Given the description of an element on the screen output the (x, y) to click on. 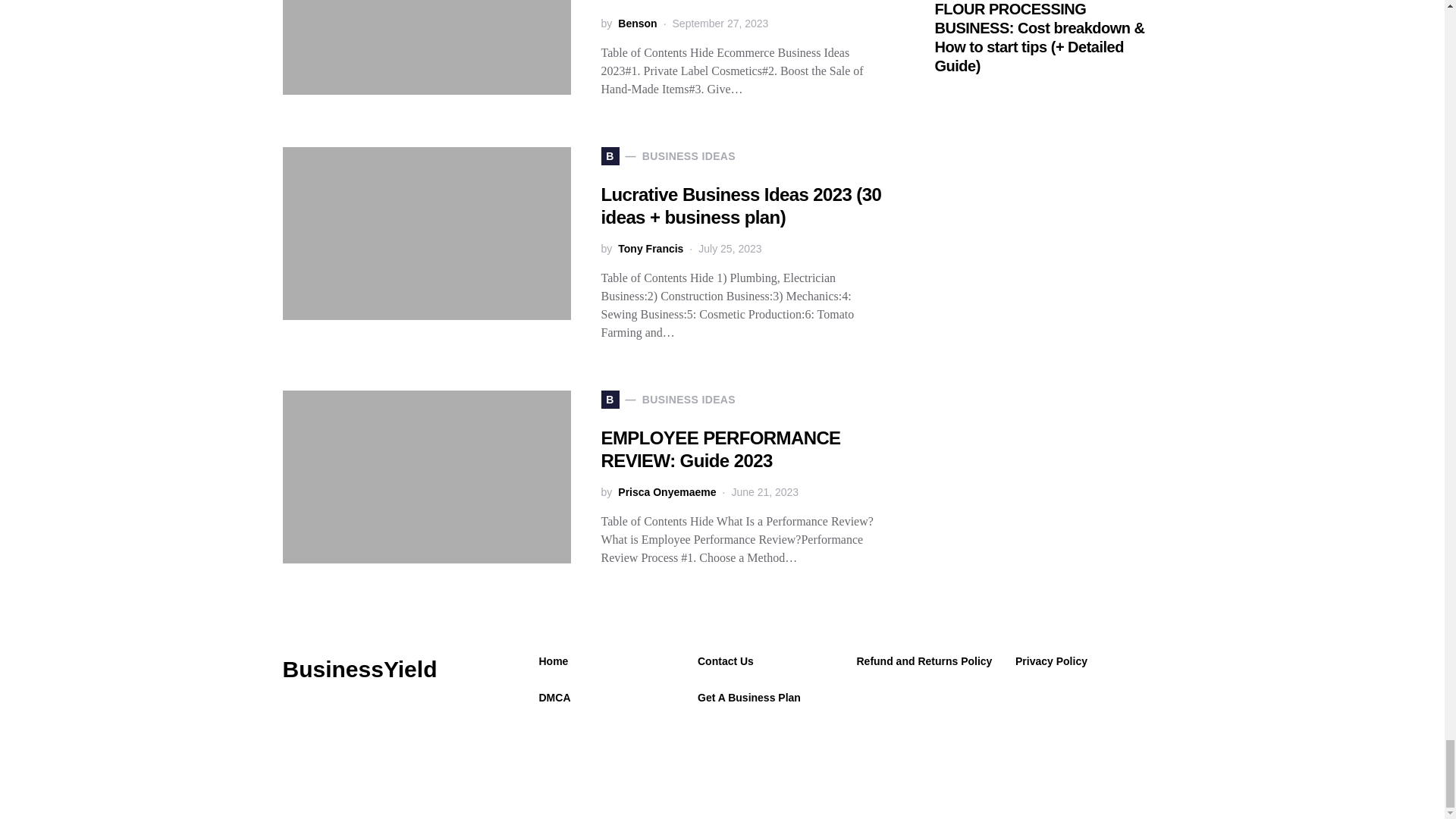
View all posts by Prisca Onyemaeme (666, 492)
View all posts by Benson (636, 23)
View all posts by Tony Francis (649, 248)
